Given the description of an element on the screen output the (x, y) to click on. 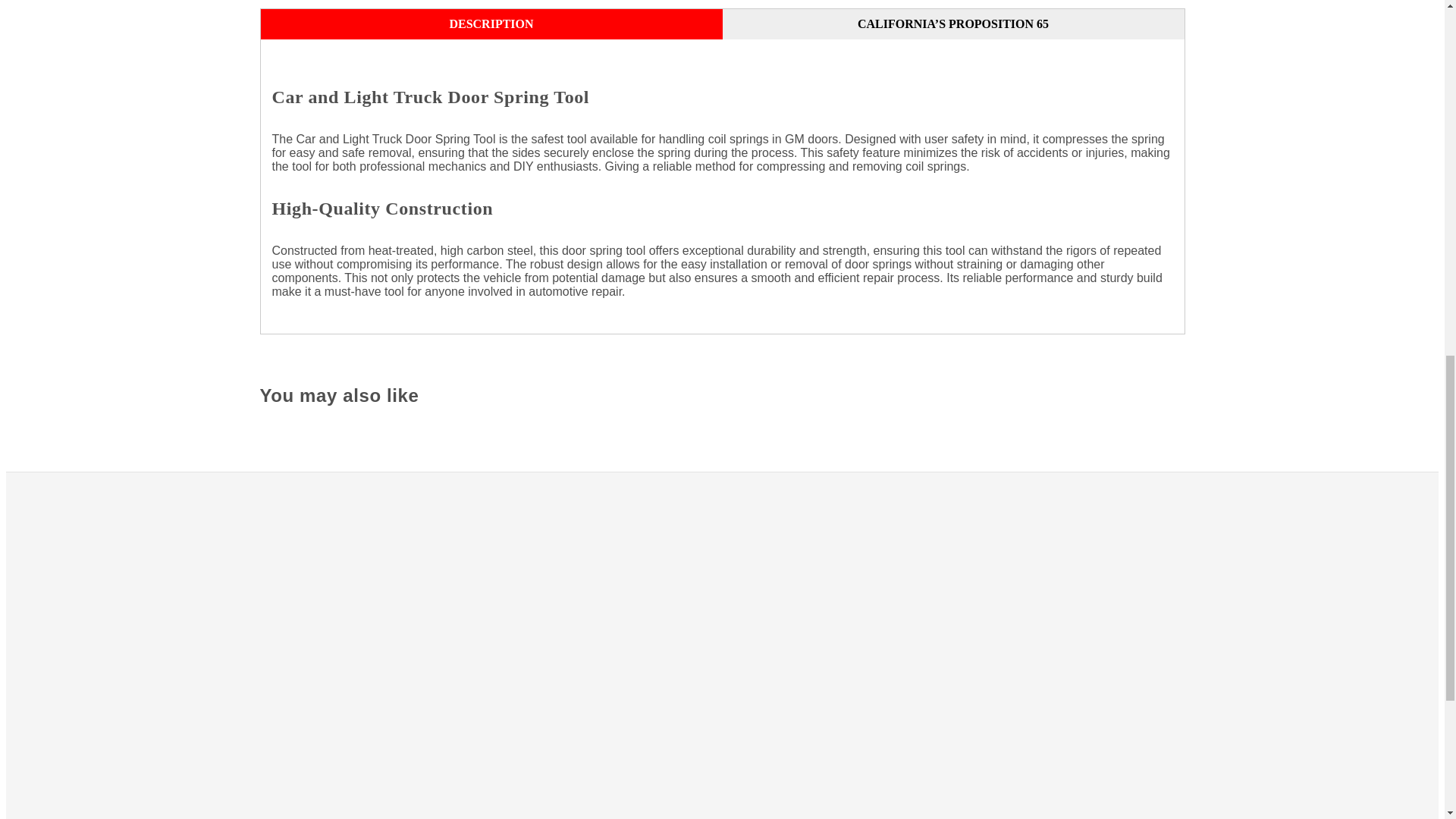
Other (1006, 779)
Independent Auto Repair Shop (1006, 705)
tel:937-222-0062 (534, 645)
